Given the description of an element on the screen output the (x, y) to click on. 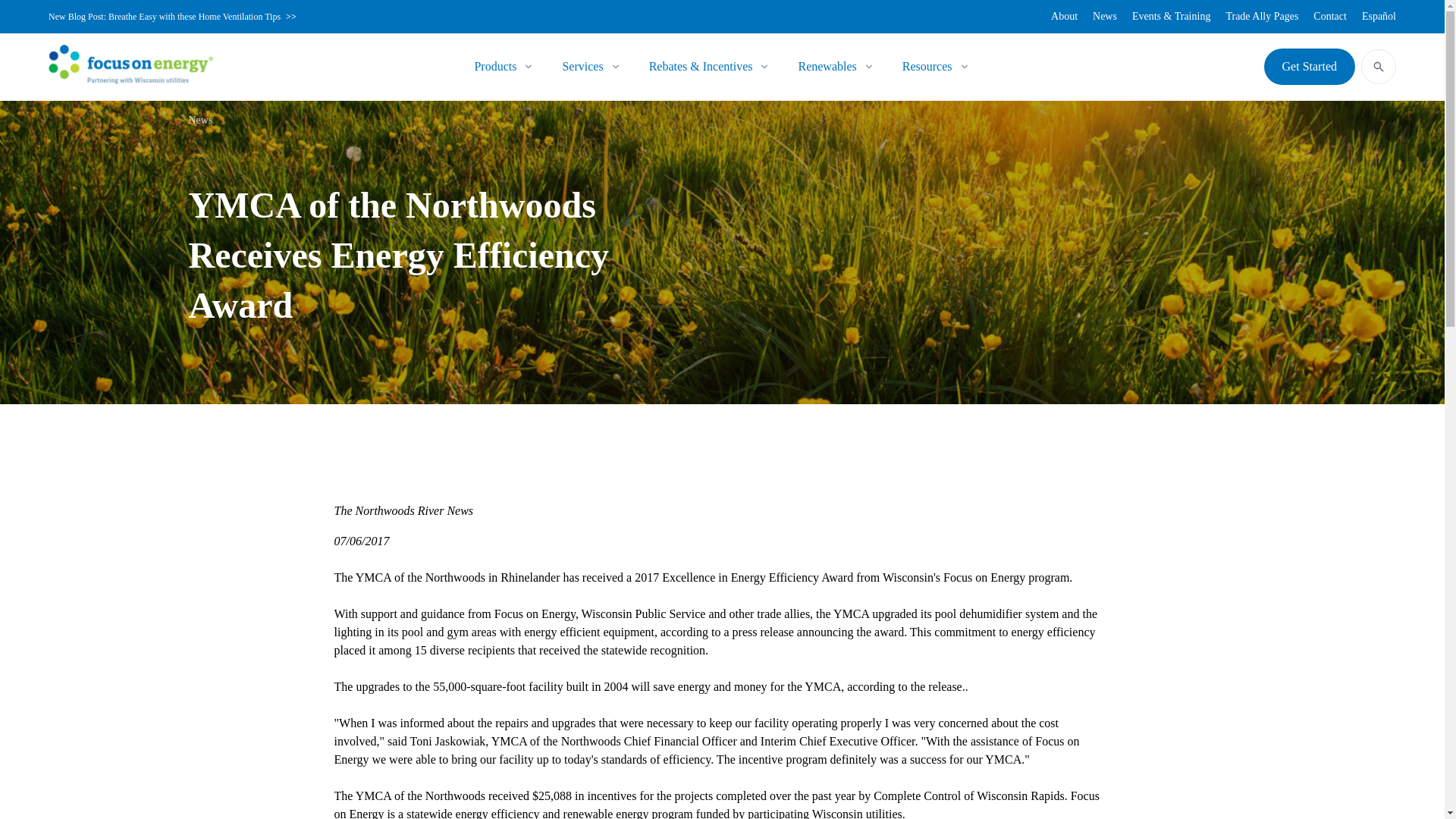
News (1104, 16)
Services (582, 66)
Contact (1329, 16)
About (1064, 16)
Products (495, 66)
Trade Ally Pages (1261, 16)
